Given the description of an element on the screen output the (x, y) to click on. 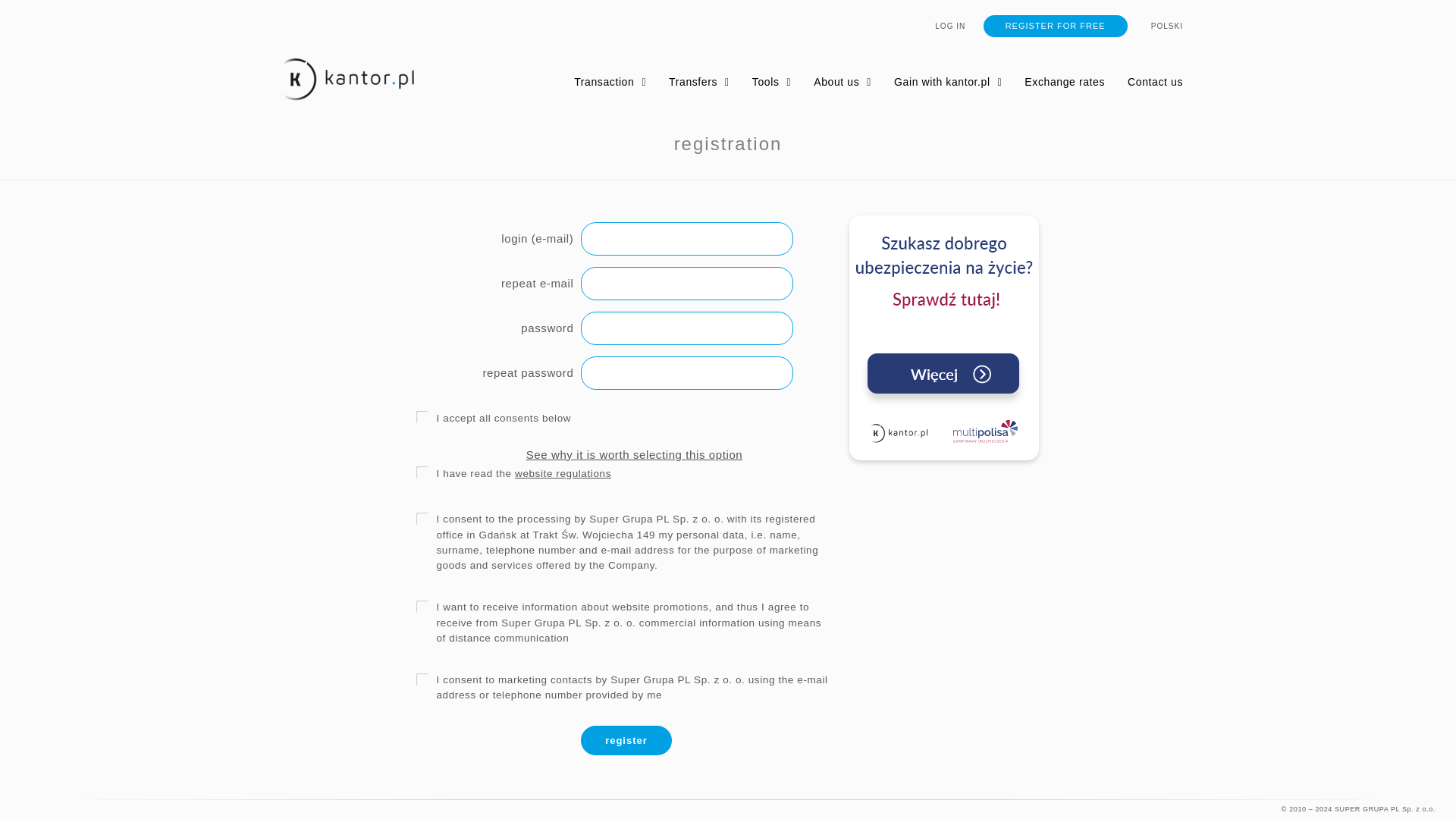
register (625, 740)
POLSKI (1155, 26)
REGISTER FOR FREE (1055, 25)
contact us (1154, 81)
LOG IN (956, 26)
